Given the description of an element on the screen output the (x, y) to click on. 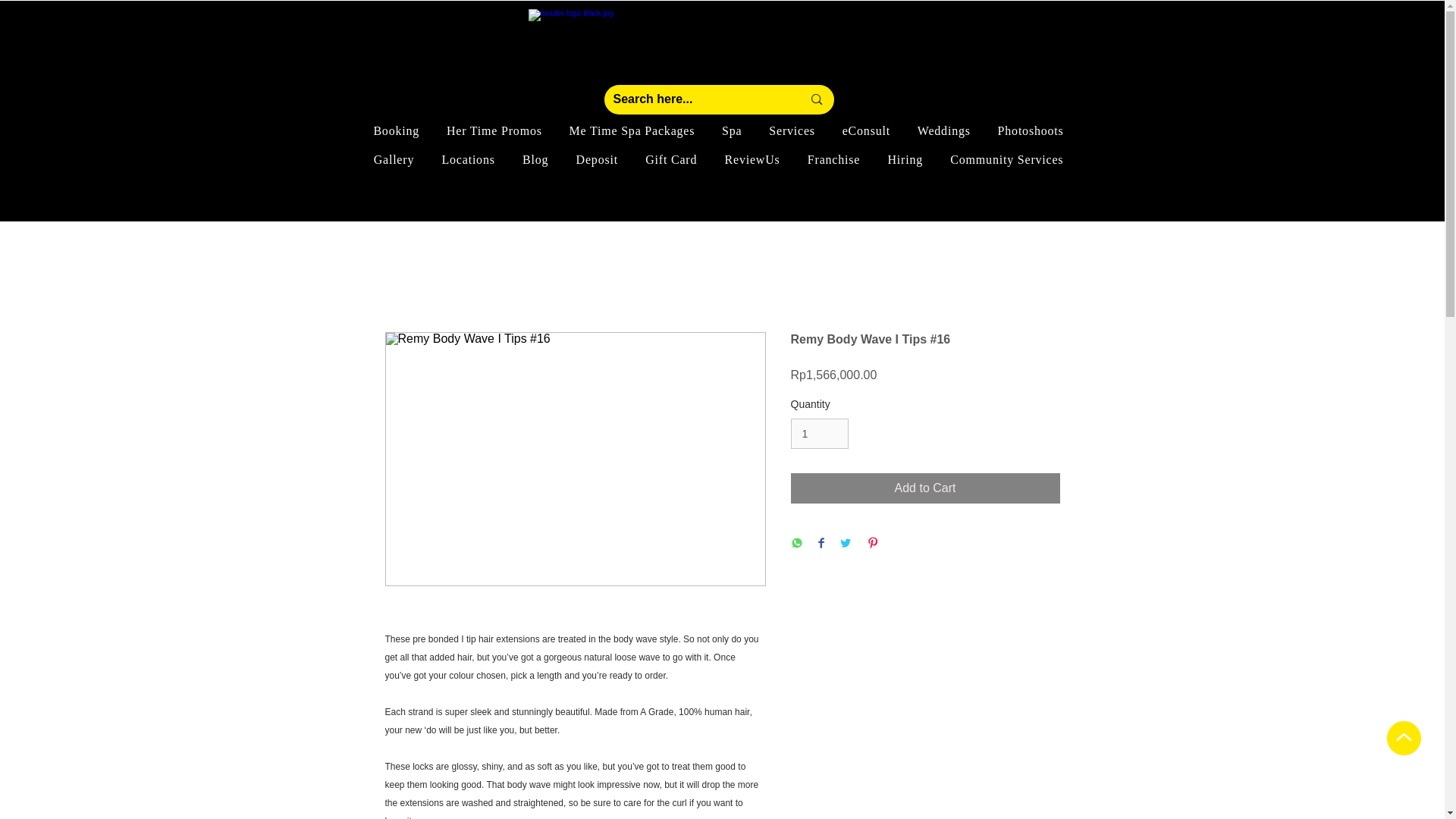
Blog (535, 159)
Spa (731, 130)
Her Time Promos (494, 130)
Add to Cart (924, 488)
Franchise (833, 159)
Deposit (596, 159)
Weddings (944, 130)
Community Services (1006, 159)
Gift Card (670, 159)
Hiring (904, 159)
